Given the description of an element on the screen output the (x, y) to click on. 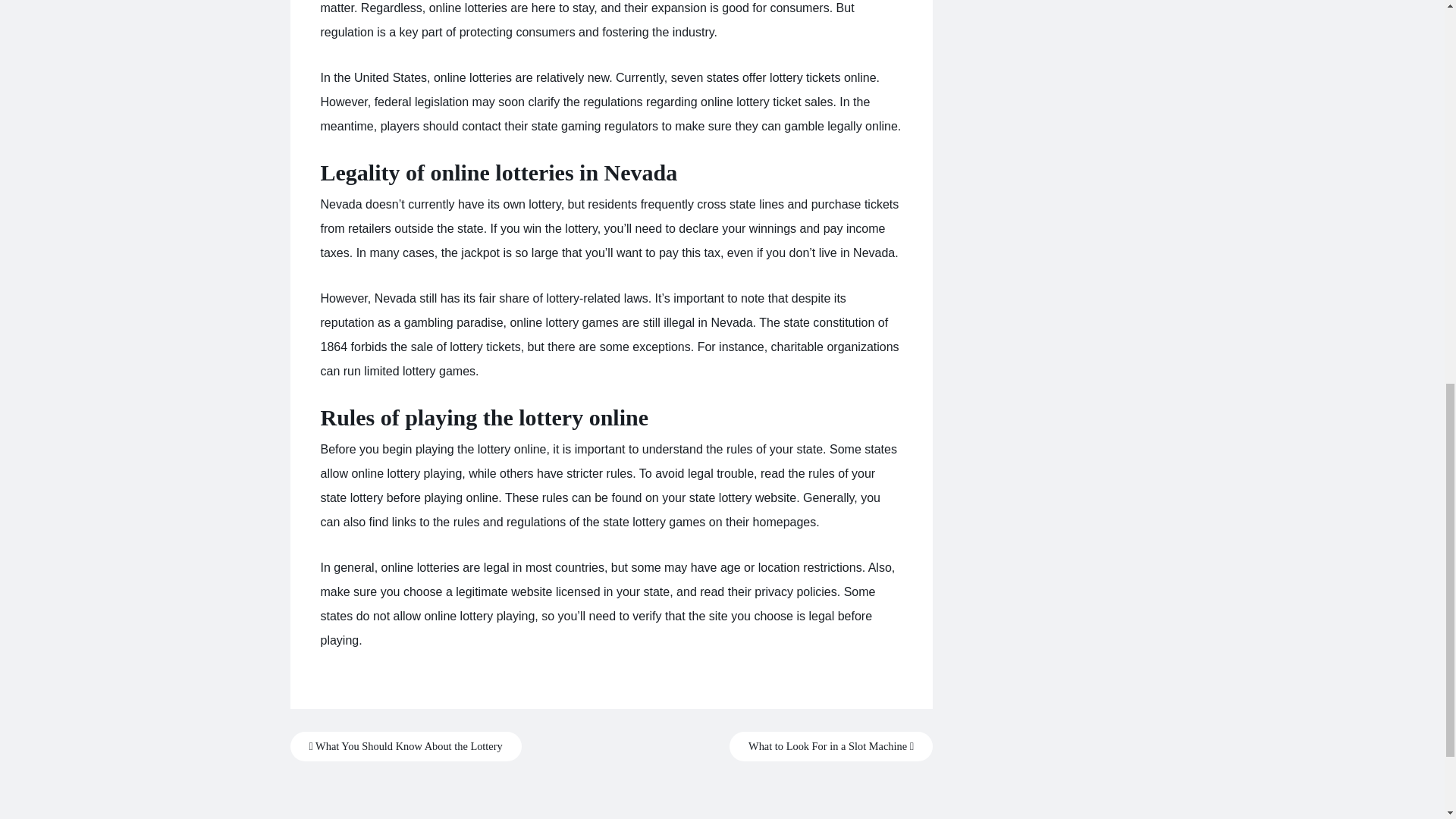
What to Look For in a Slot Machine (831, 746)
What You Should Know About the Lottery (405, 746)
